Given the description of an element on the screen output the (x, y) to click on. 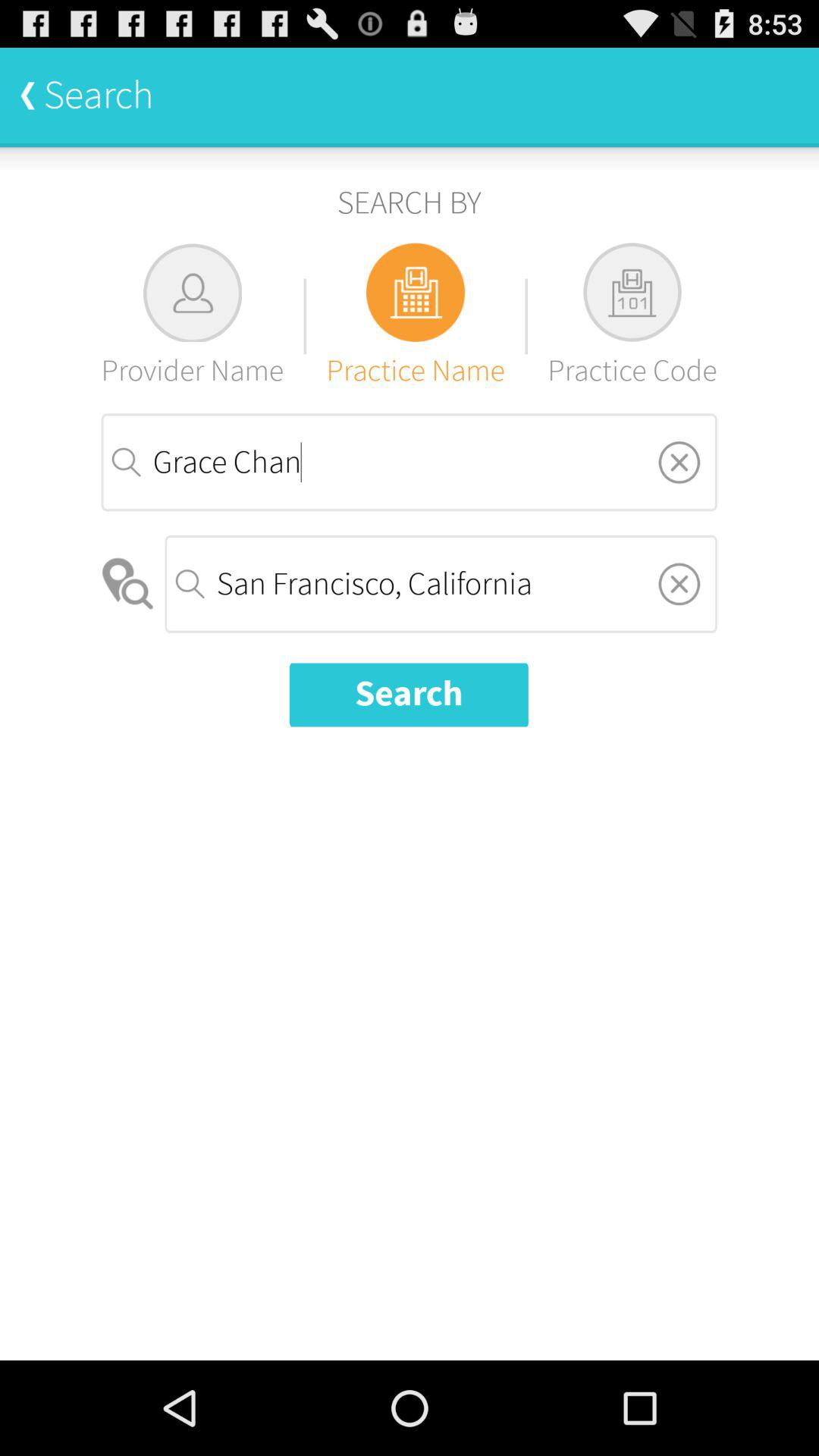
select the item to the left of the san francisco, california icon (128, 583)
